Given the description of an element on the screen output the (x, y) to click on. 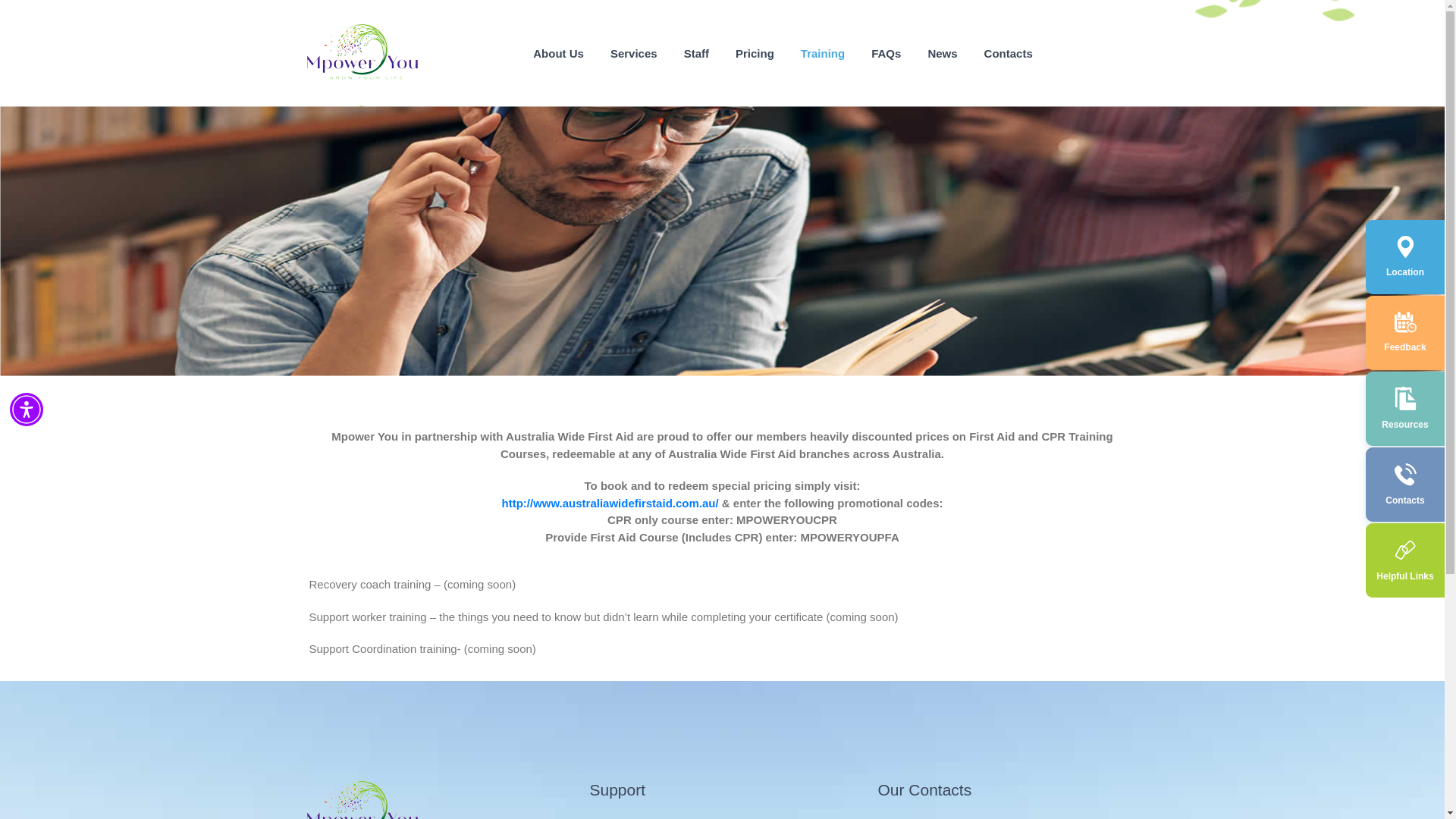
News (941, 52)
Accessibility Menu (26, 409)
About Us (557, 52)
Contacts (1008, 52)
Mpower You (362, 799)
send message (1106, 505)
Services (634, 52)
Training (822, 52)
Staff (696, 52)
Mpower You (362, 52)
Pricing (754, 52)
FAQs (885, 52)
